Given the description of an element on the screen output the (x, y) to click on. 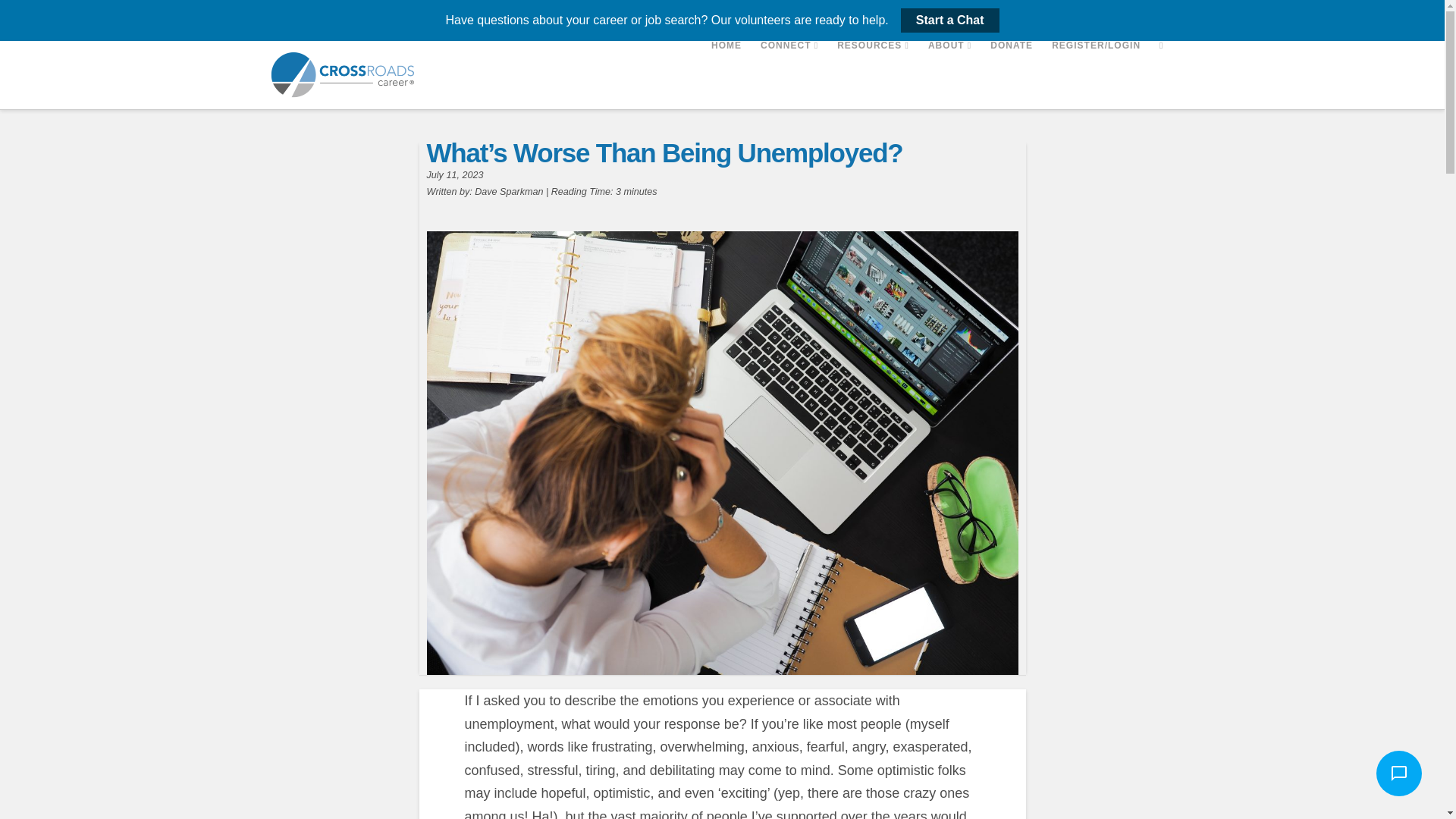
CONNECT (789, 74)
RESOURCES (872, 74)
ABOUT (948, 74)
DONATE (1010, 74)
Start a Chat (949, 20)
